Given the description of an element on the screen output the (x, y) to click on. 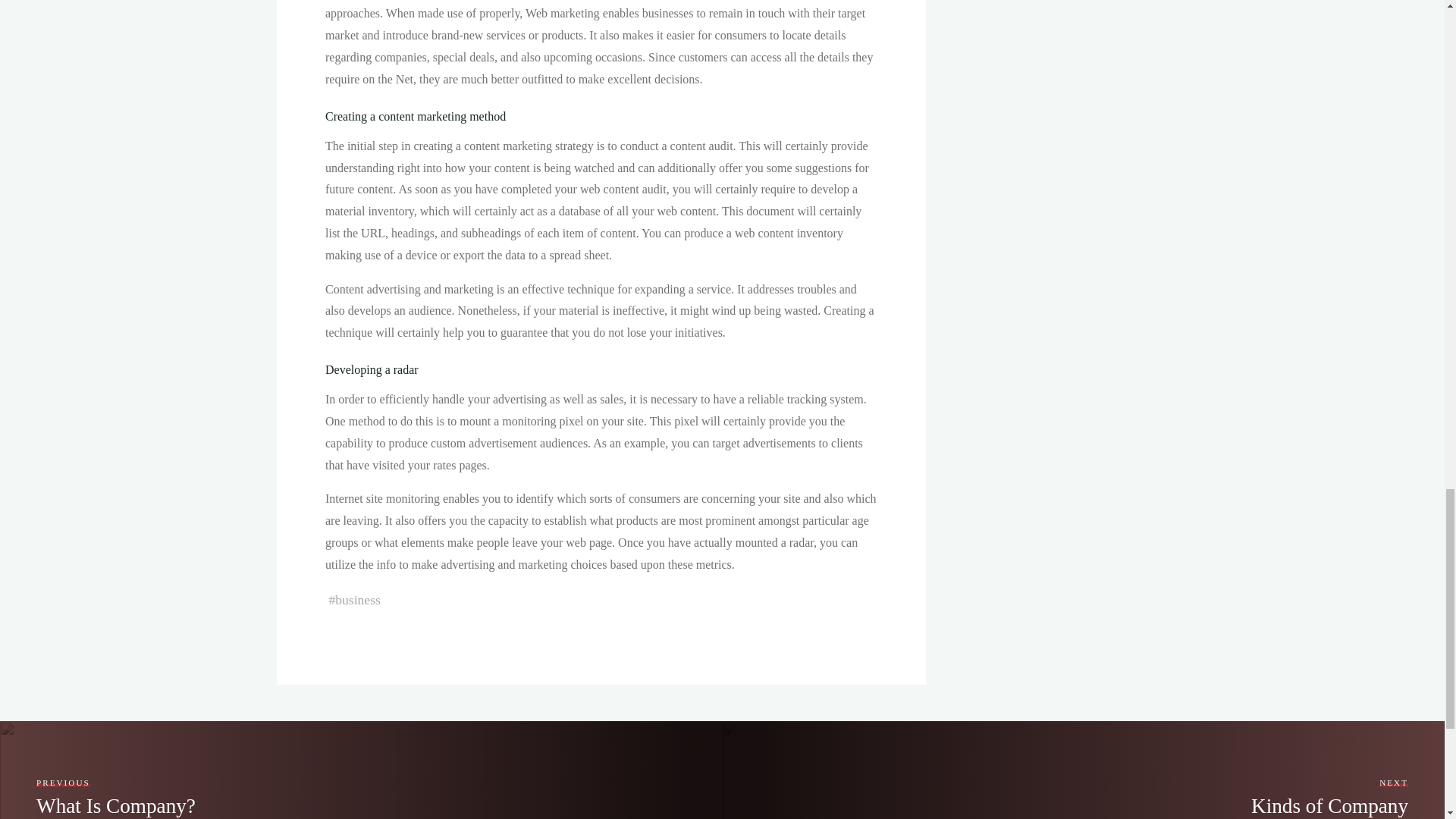
business (357, 599)
